Given the description of an element on the screen output the (x, y) to click on. 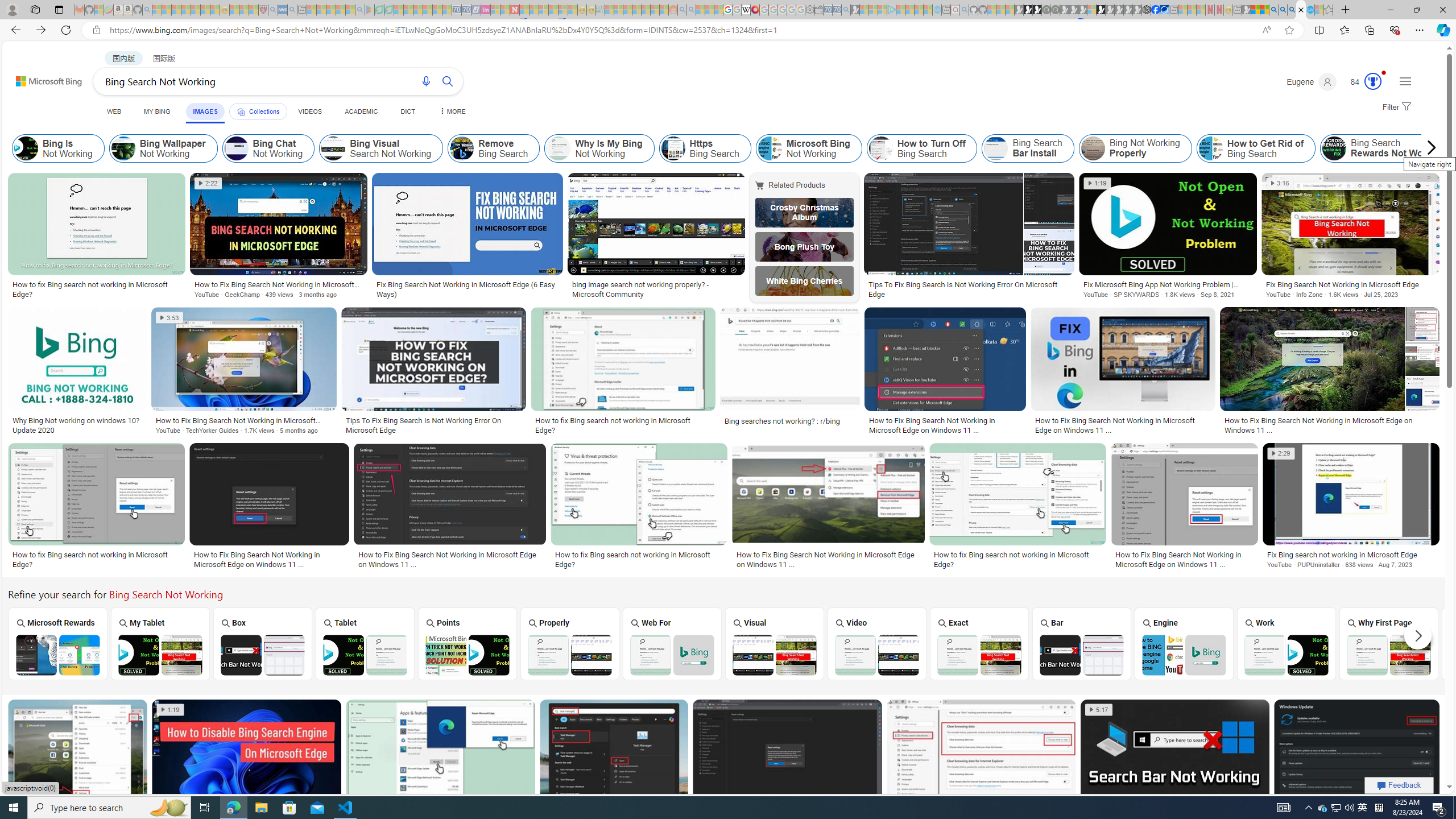
Search using voice (426, 80)
Bing Work Search Not Working Work (1286, 643)
Favorites - Sleeping (1328, 9)
utah sues federal government - Search - Sleeping (291, 9)
ACADEMIC (360, 111)
Bing Search Engine Not Working (1184, 655)
Dropdown Menu (451, 111)
